Given the description of an element on the screen output the (x, y) to click on. 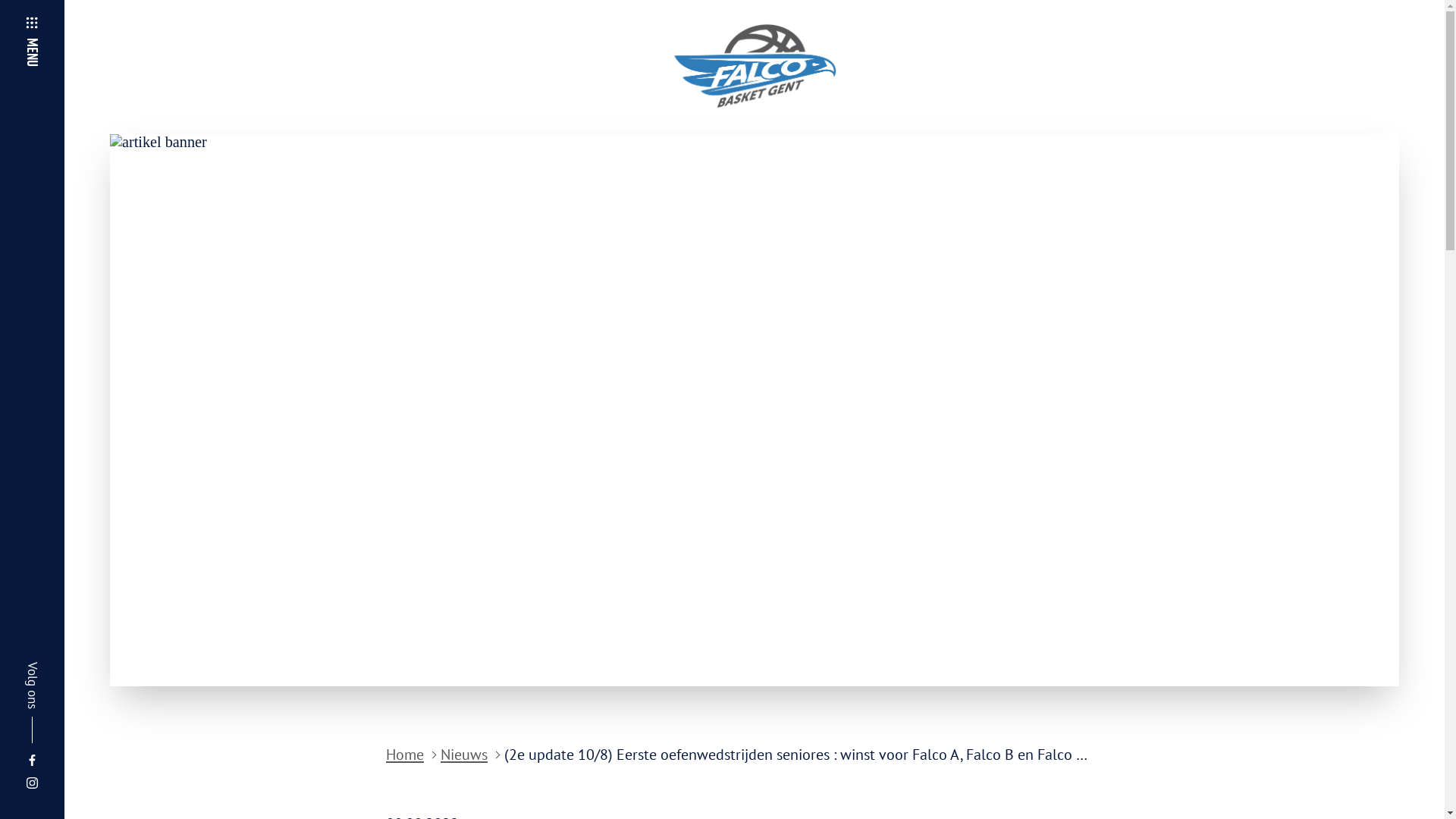
Home Element type: text (404, 754)
MENU Element type: text (48, 24)
Nieuws Element type: text (463, 754)
